Given the description of an element on the screen output the (x, y) to click on. 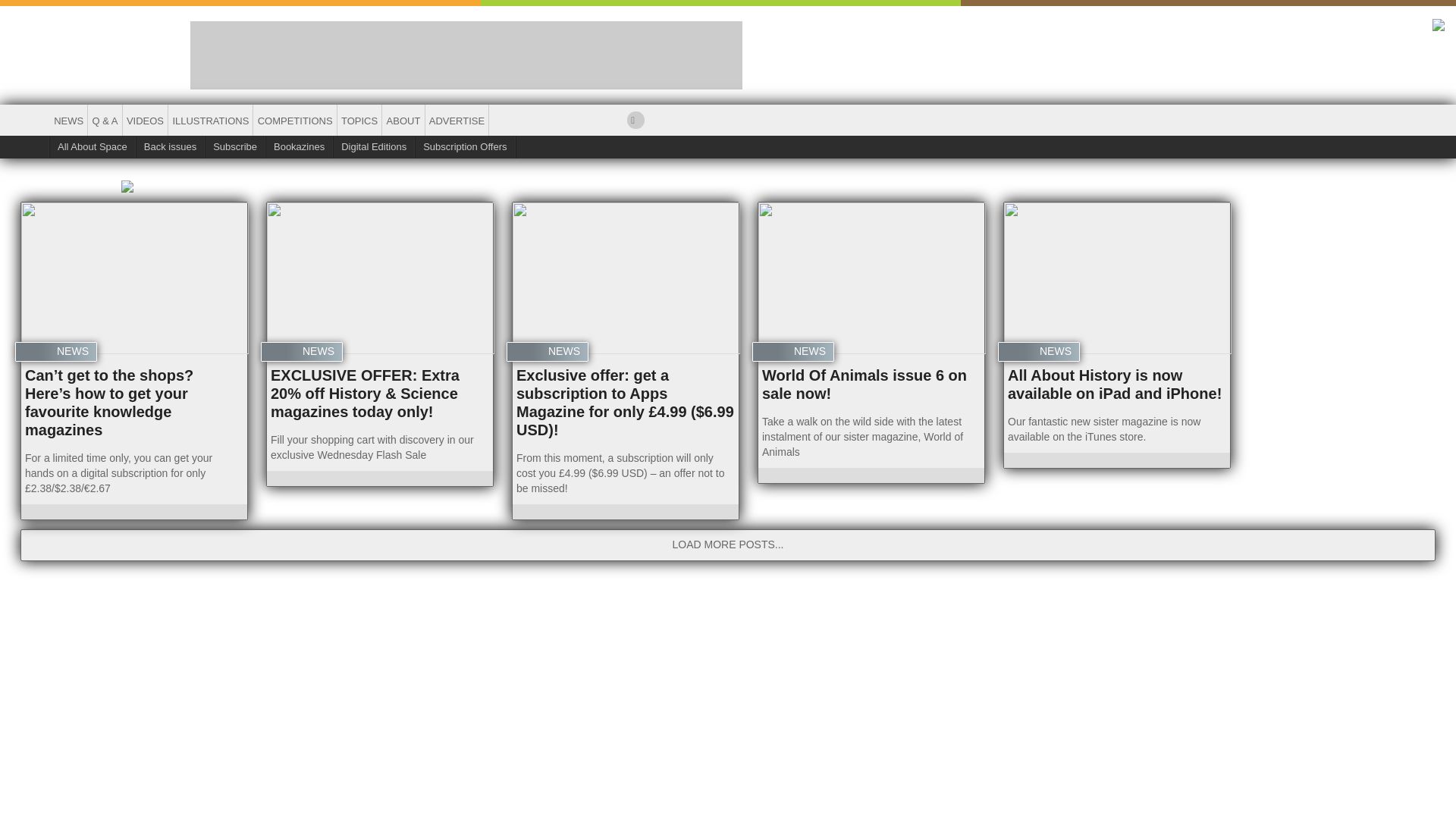
NEWS (68, 120)
TOPICS (359, 120)
Bookazines (299, 147)
Back issues (170, 147)
Digital Editions (373, 147)
All About Space (92, 147)
Subscribe (234, 147)
COMPETITIONS (294, 120)
Permalink to World Of Animals issue 6 on sale now! (863, 384)
ILLUSTRATIONS (209, 120)
Permalink to World Of Animals issue 6 on sale now! (871, 277)
ADVERTISE (457, 120)
VIDEOS (145, 120)
ABOUT (402, 120)
